Given the description of an element on the screen output the (x, y) to click on. 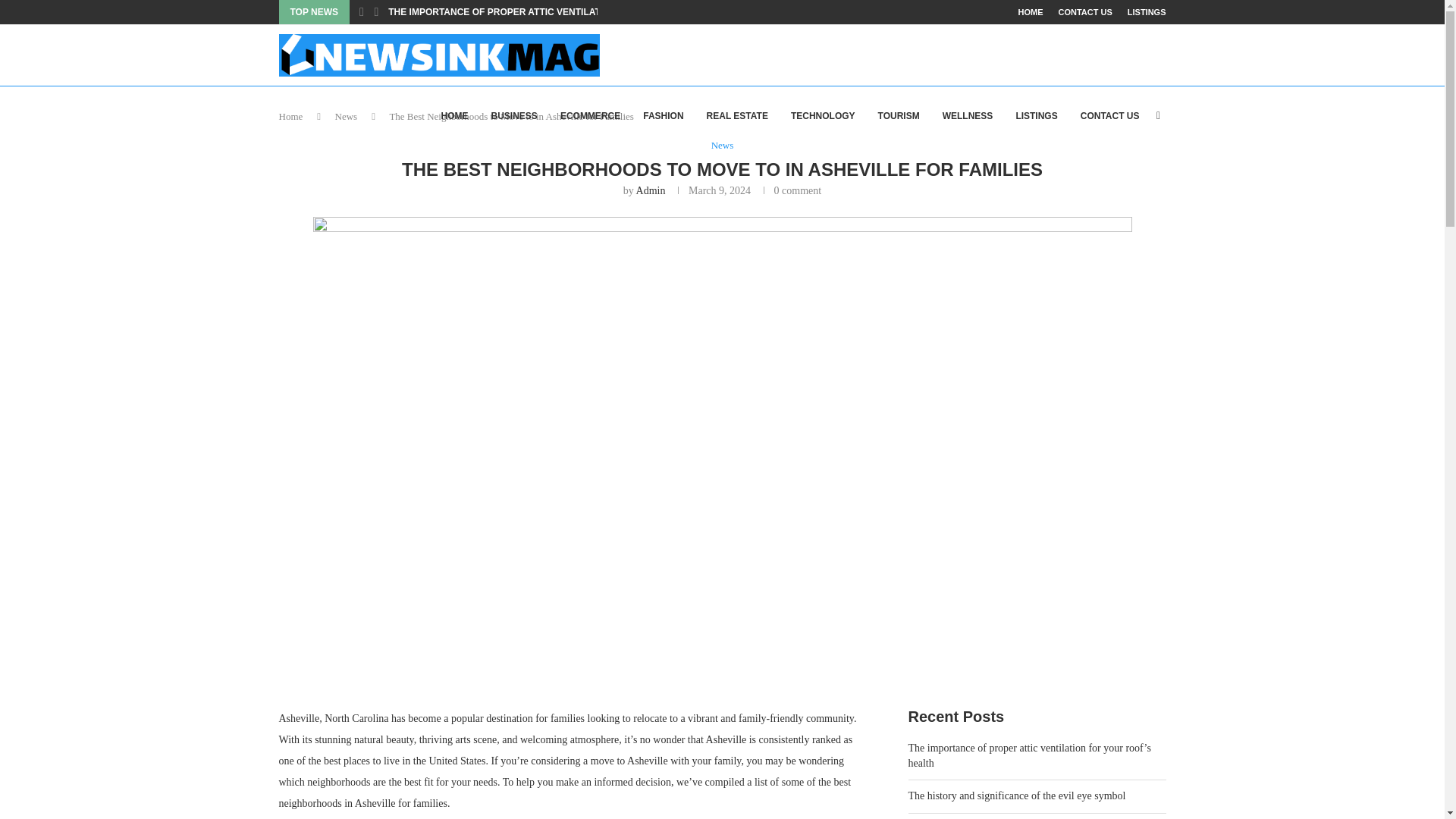
HOME (1029, 12)
Home (290, 116)
Admin (650, 190)
CONTACT US (1085, 12)
THE IMPORTANCE OF PROPER ATTIC VENTILATION FOR YOUR... (531, 12)
News (722, 145)
TECHNOLOGY (823, 115)
ECOMMERCE (590, 115)
REAL ESTATE (737, 115)
News (346, 116)
LISTINGS (1146, 12)
CONTACT US (1110, 115)
